Given the description of an element on the screen output the (x, y) to click on. 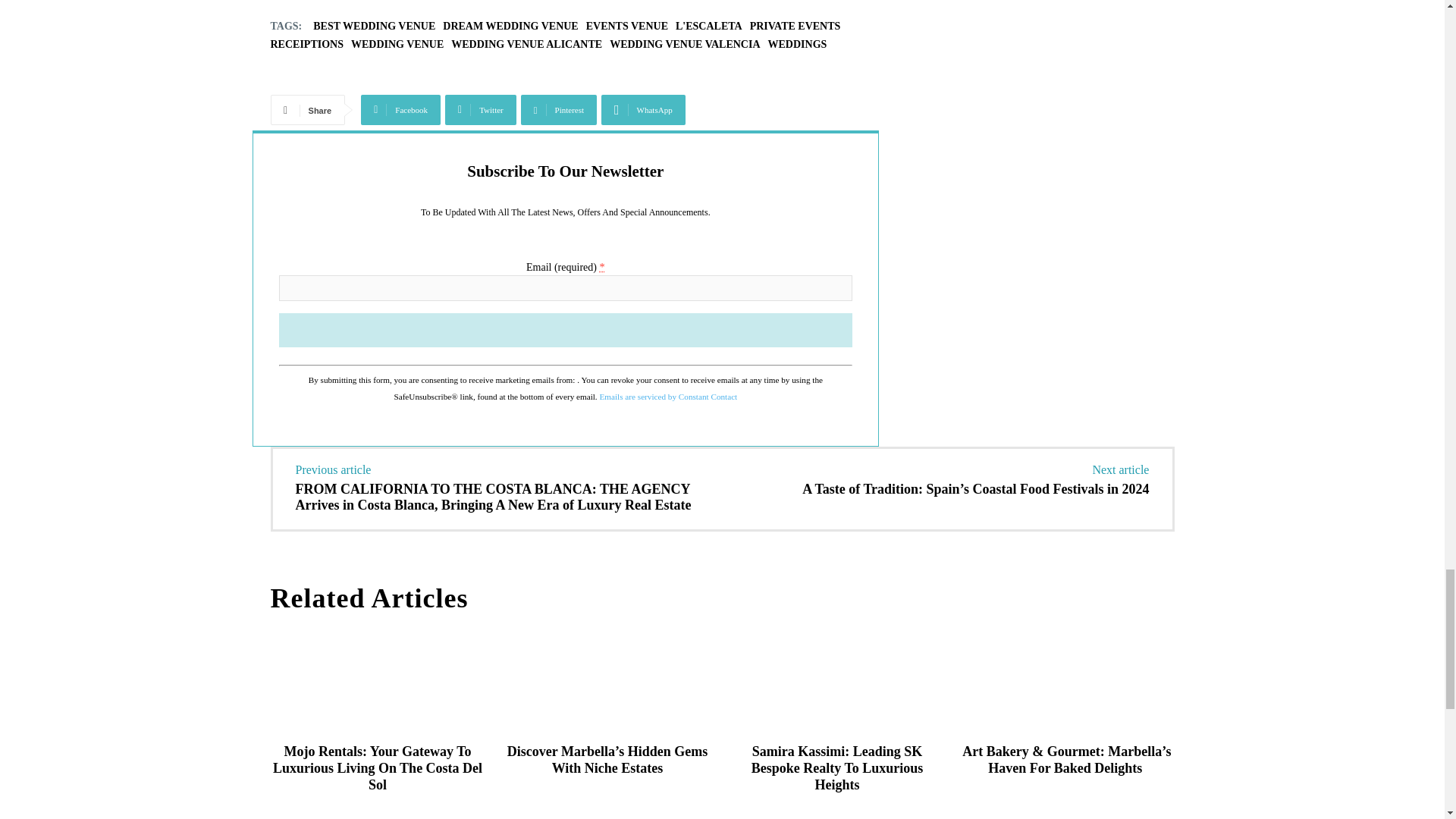
Twitter (480, 110)
Pinterest (558, 110)
Sign up (566, 329)
WhatsApp (643, 110)
Facebook (401, 110)
